Given the description of an element on the screen output the (x, y) to click on. 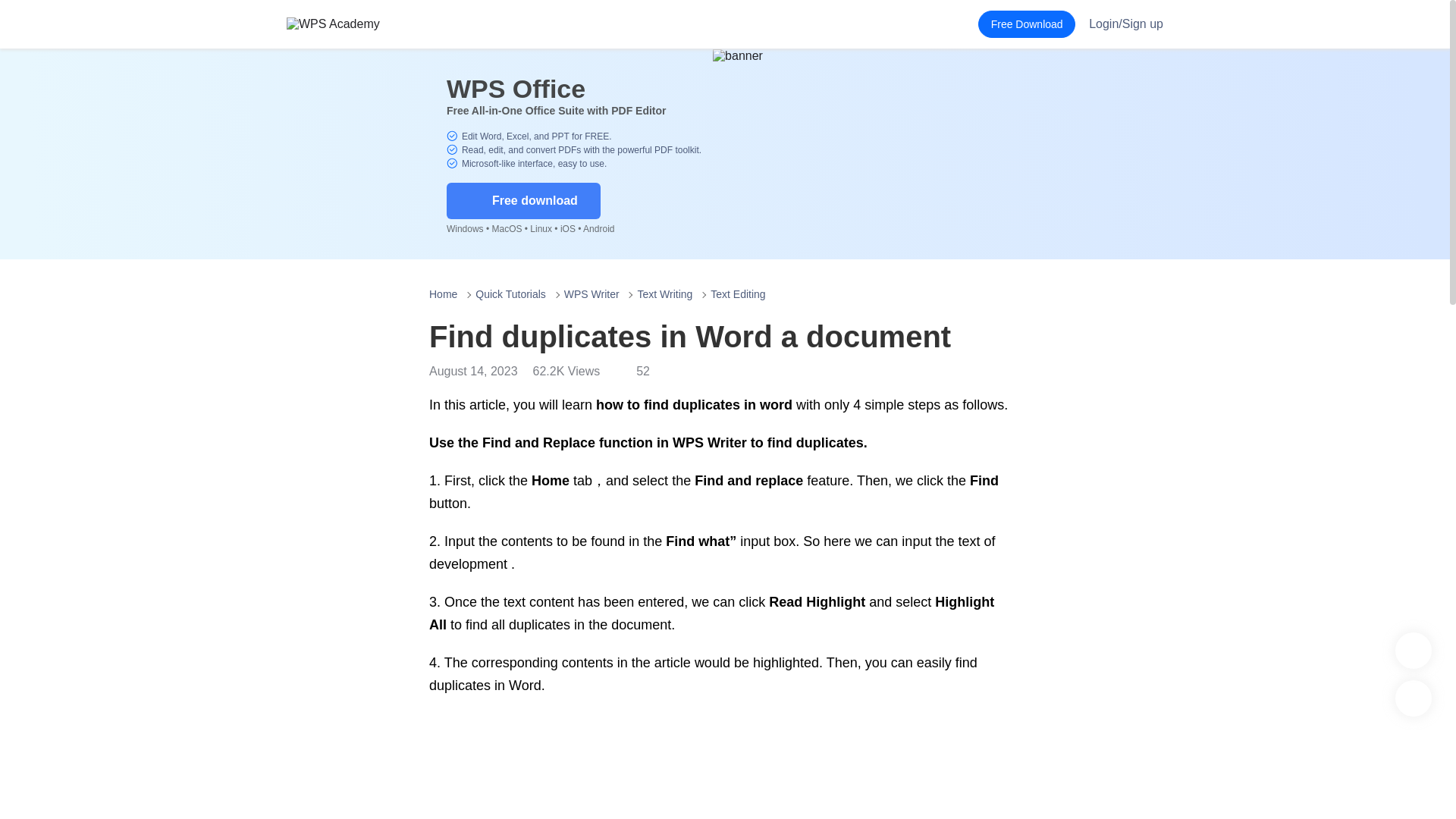
WPS Writer (592, 294)
Text Writing (665, 294)
Home (443, 294)
Text Editing (737, 294)
Quick Tutorials (511, 294)
